Given the description of an element on the screen output the (x, y) to click on. 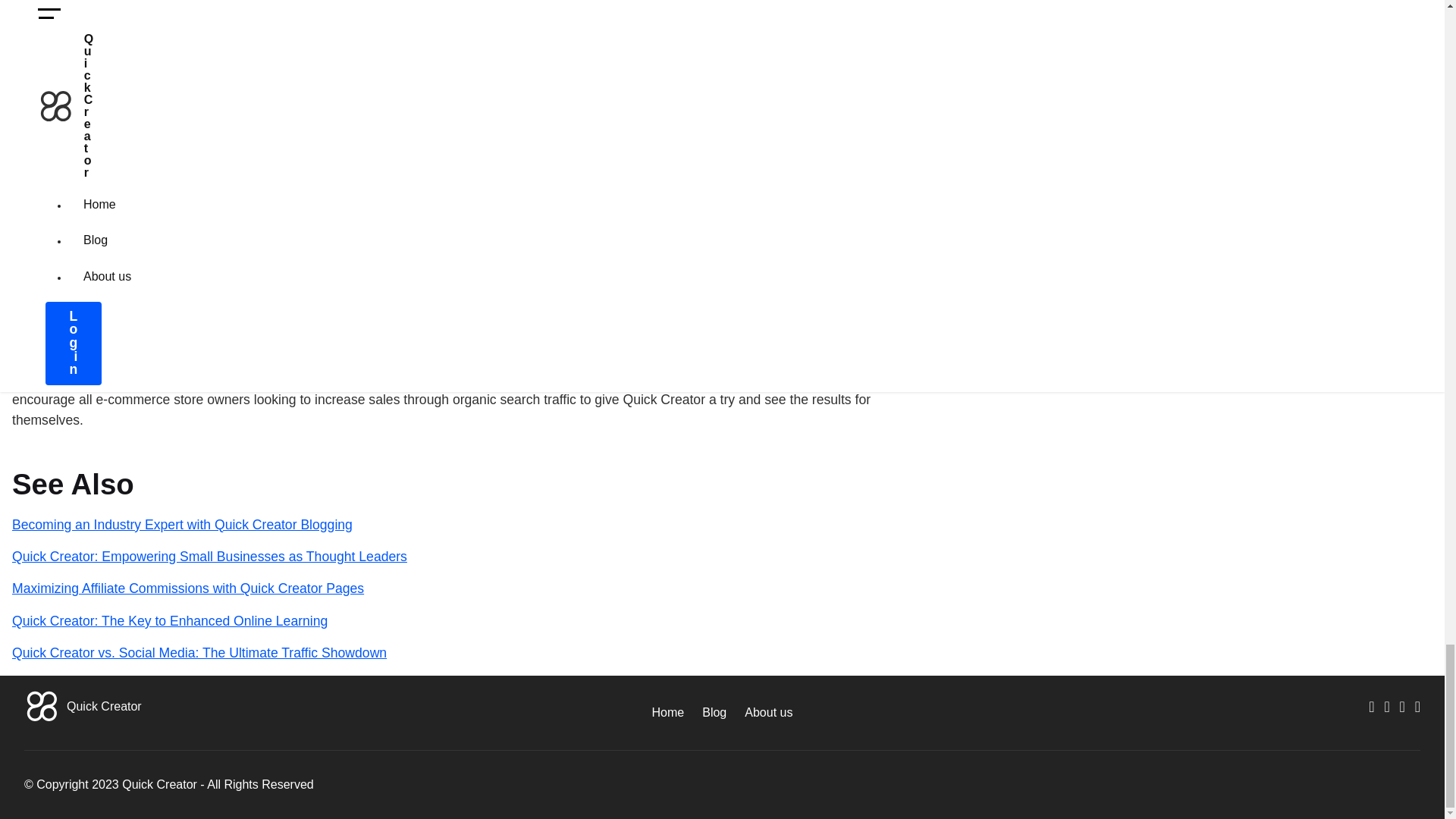
About us (768, 712)
Quick Creator: The Key to Enhanced Online Learning (169, 620)
Becoming an Industry Expert with Quick Creator Blogging (181, 524)
Home (668, 712)
Blog (713, 712)
Maximizing Affiliate Commissions with Quick Creator Pages (187, 588)
Quick Creator (103, 706)
